Given the description of an element on the screen output the (x, y) to click on. 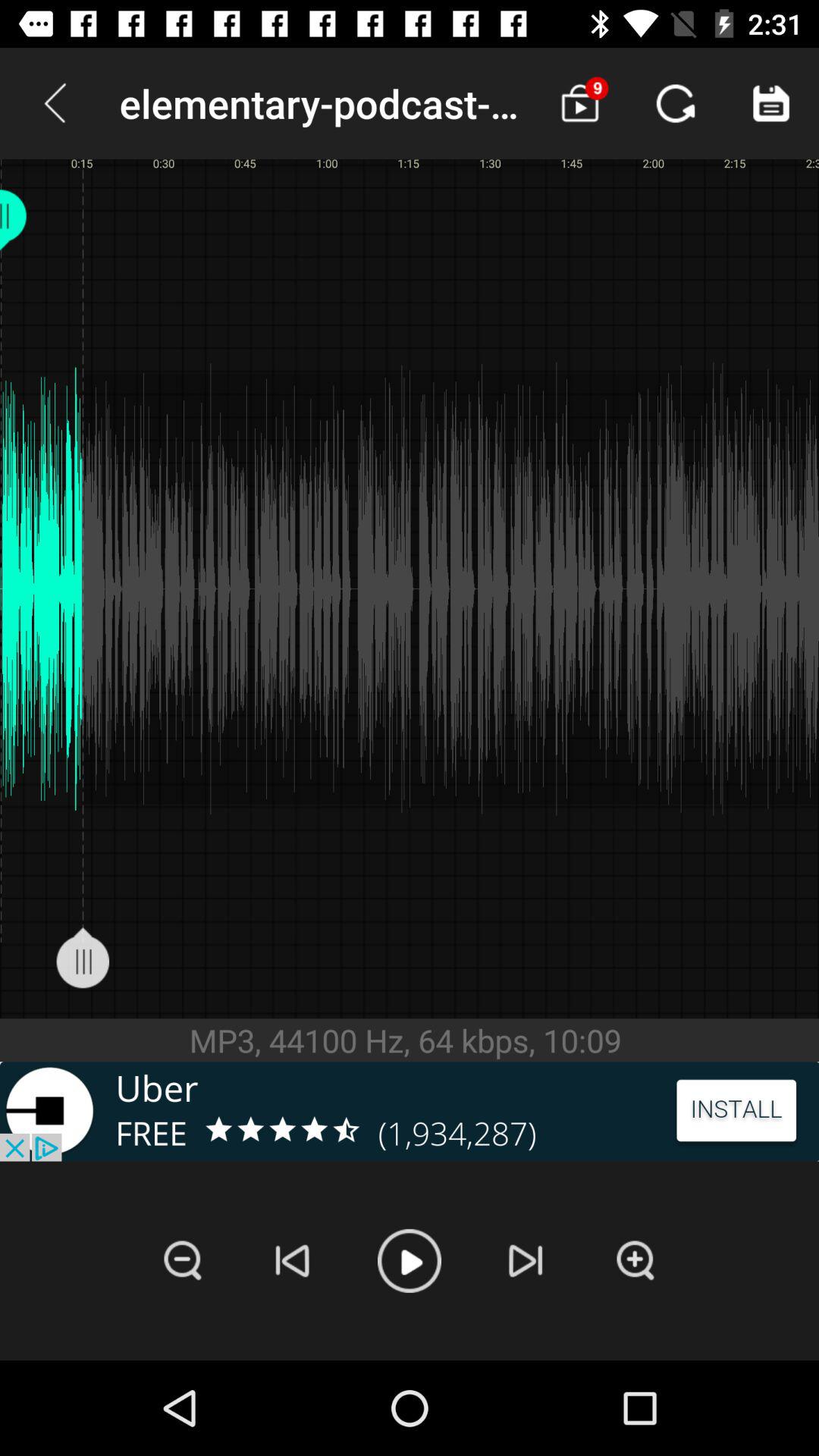
view the advertisement (409, 1111)
